Given the description of an element on the screen output the (x, y) to click on. 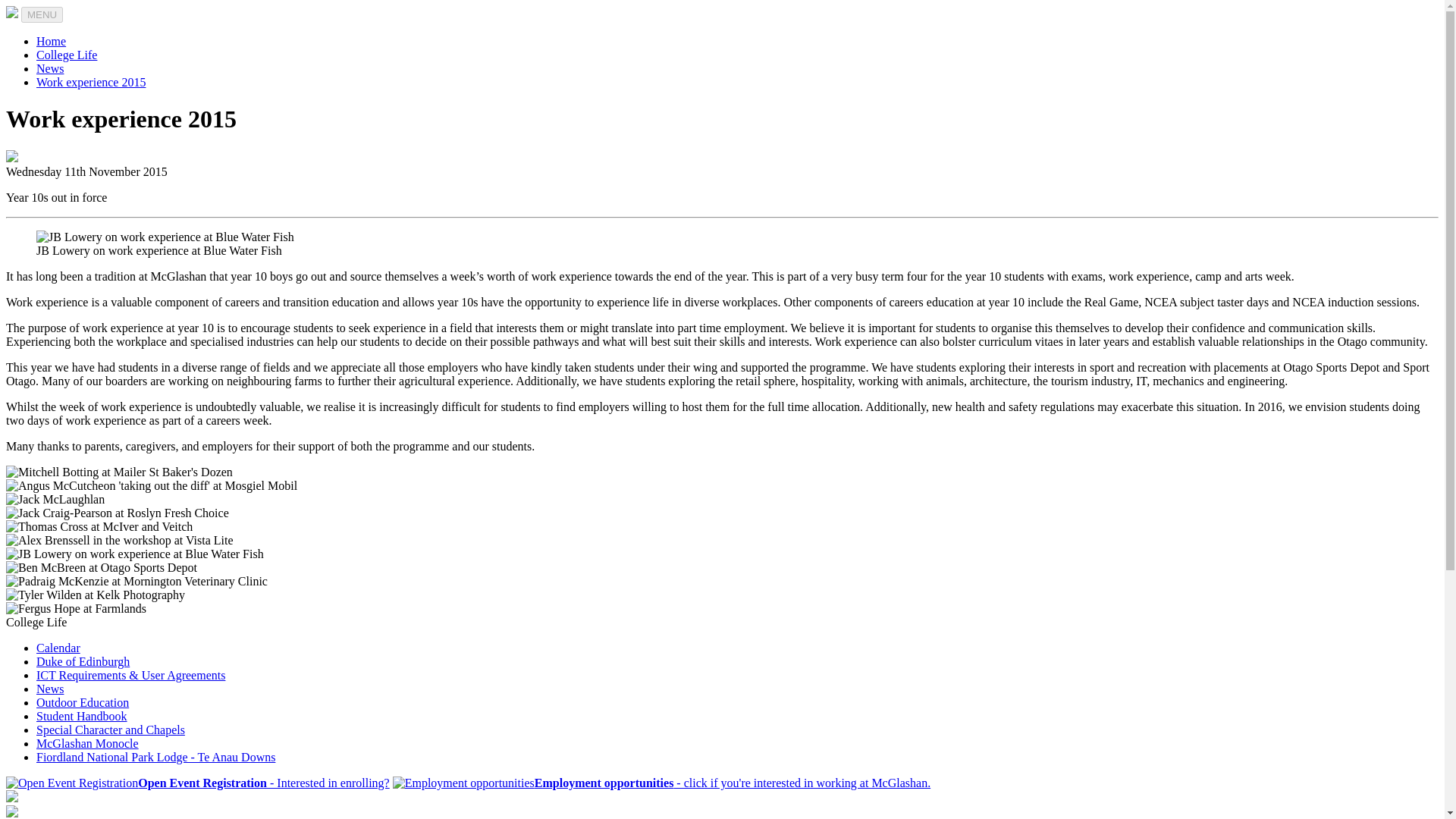
McGlashan Monocle (87, 743)
Work experience 2015 (90, 82)
Student Handbook (82, 716)
Special Character and Chapels (110, 729)
Outdoor Education (82, 702)
Duke of Edinburgh (82, 661)
Fiordland National Park Lodge - Te Anau Downs (155, 757)
News (50, 68)
Open Event Registration - Interested in enrolling? (197, 782)
